Given the description of an element on the screen output the (x, y) to click on. 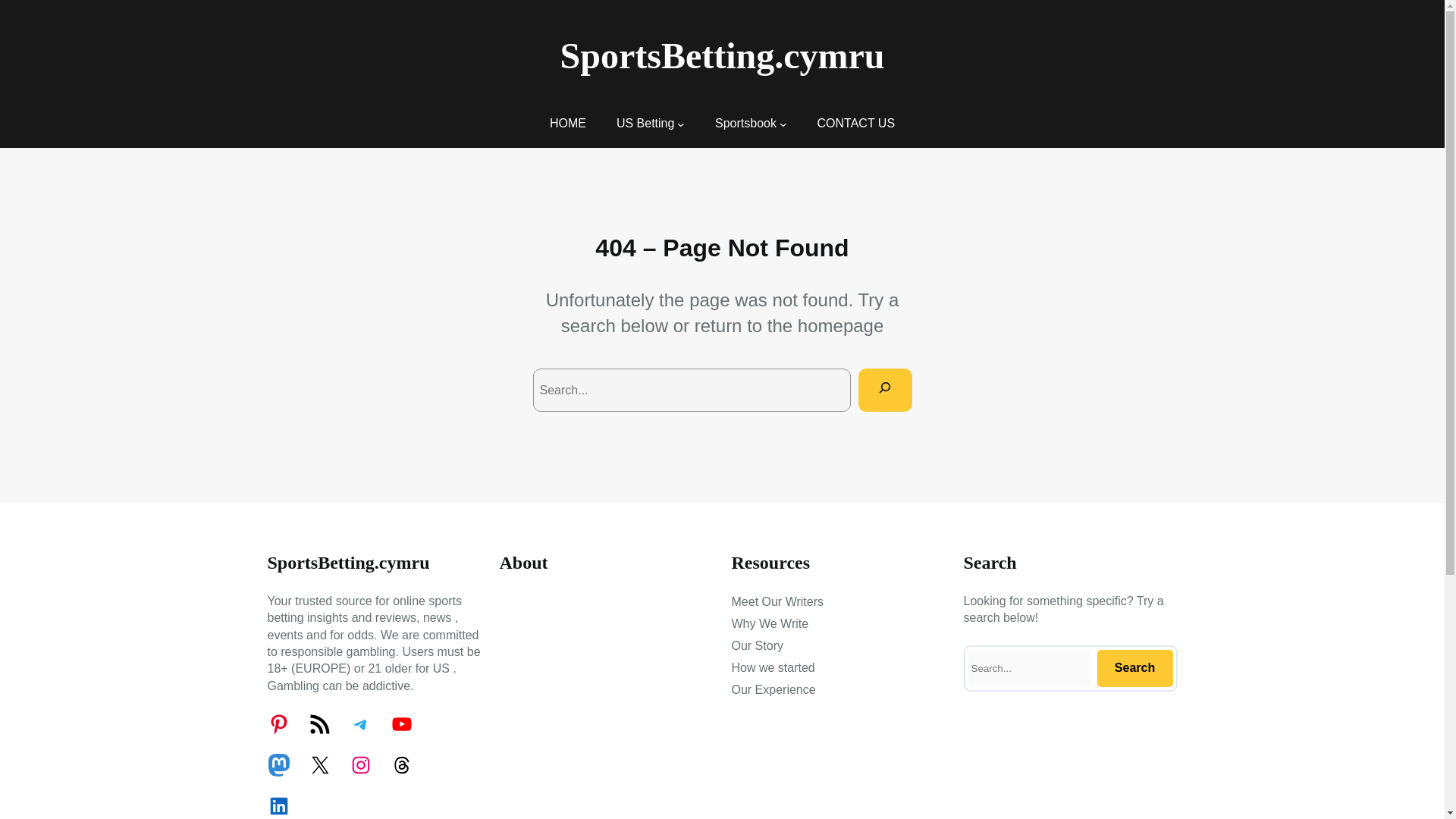
HOME (568, 123)
Threads (401, 764)
Pinterest (277, 723)
CONTACT US (855, 123)
Mastodon (277, 764)
homepage (840, 325)
X (318, 764)
Instagram (360, 764)
Sportsbook (745, 123)
RSS Feed (318, 723)
Our Experience (772, 689)
LinkedIn (277, 805)
Why We Write (769, 624)
YouTube (401, 723)
Meet Our Writers (777, 601)
